Given the description of an element on the screen output the (x, y) to click on. 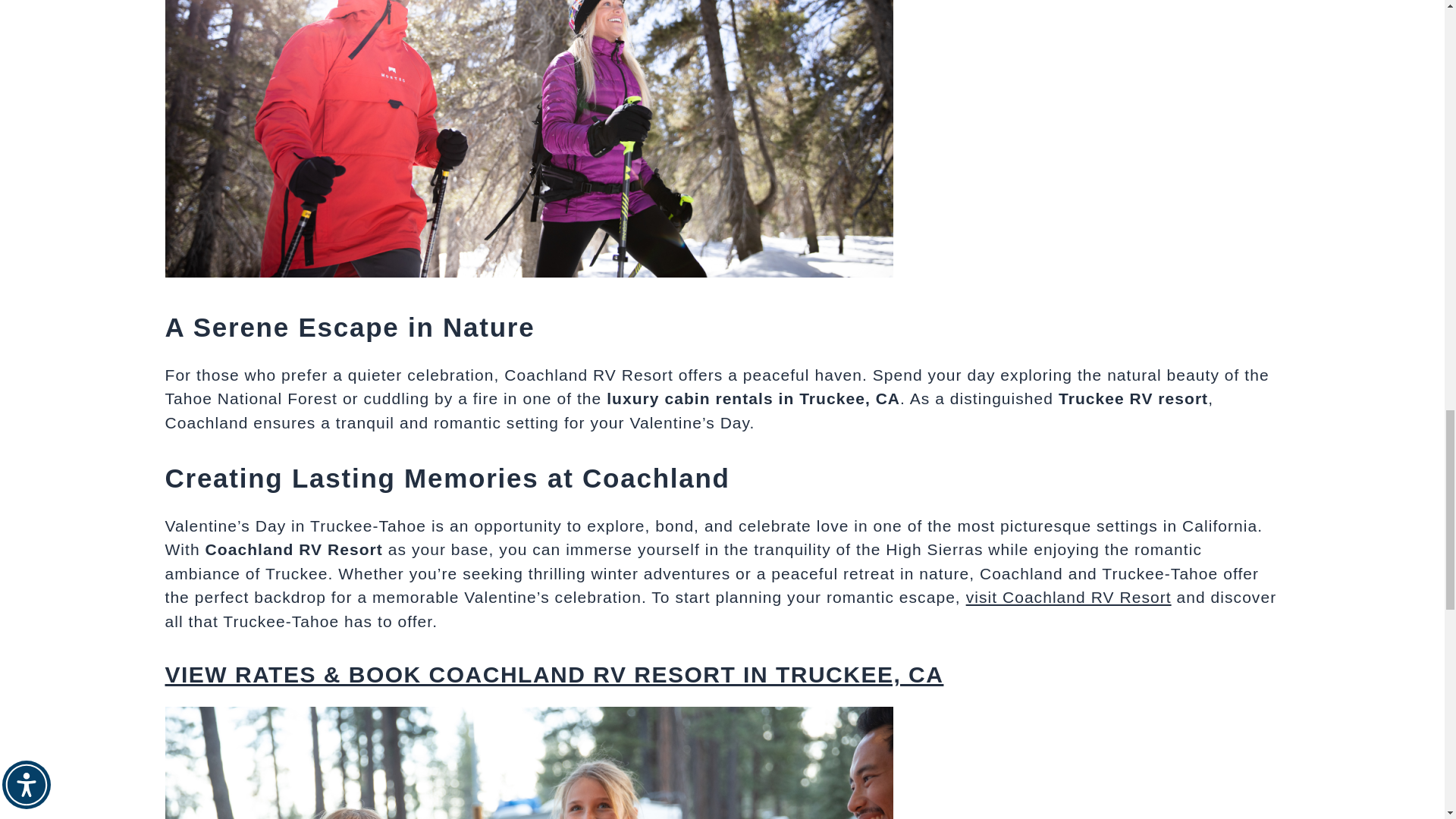
visit Coachland RV Resort (1069, 597)
